Given the description of an element on the screen output the (x, y) to click on. 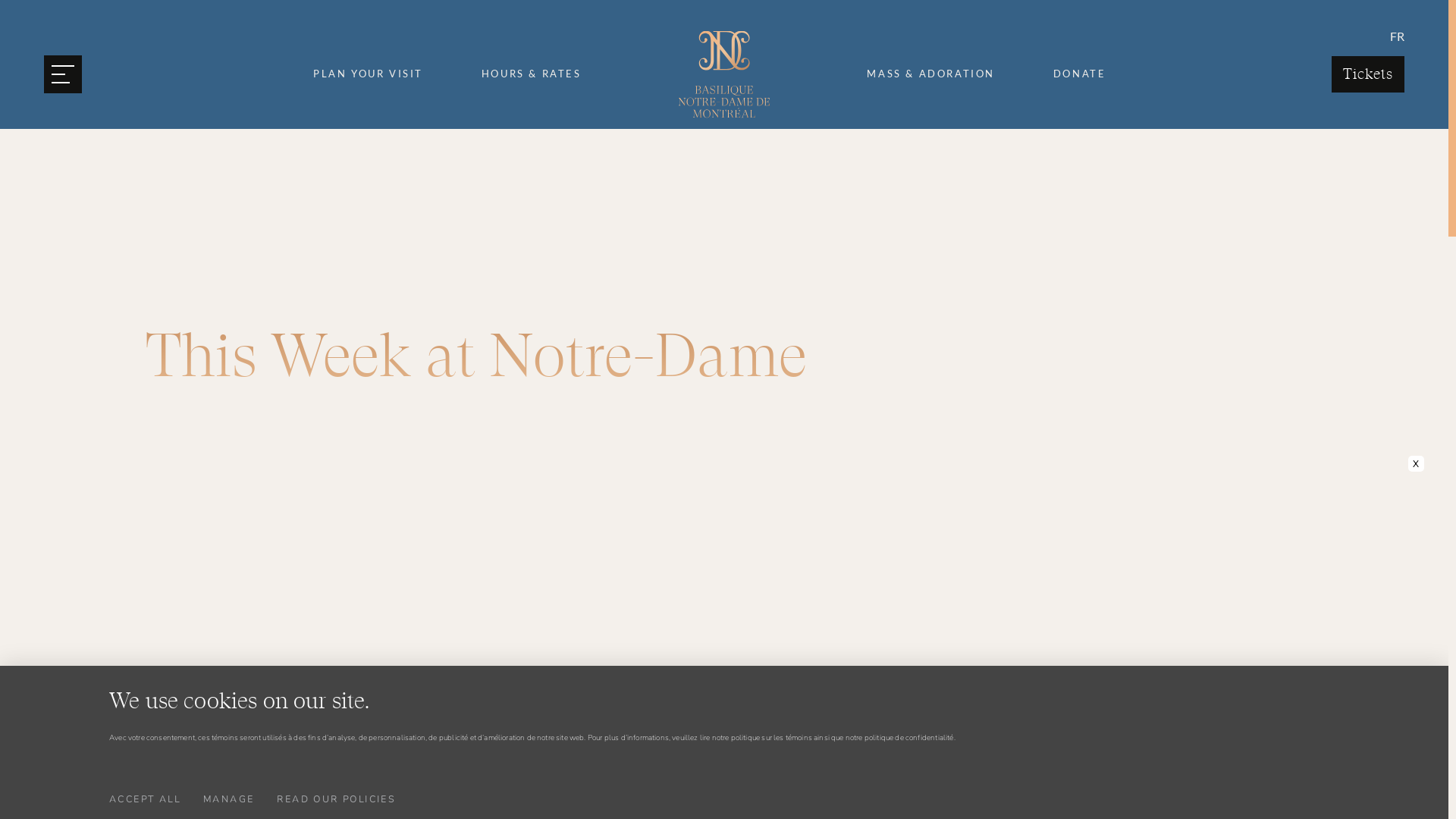
SITEMAP Element type: text (124, 785)
MASS & ADORATION Element type: text (930, 73)
MANAGE Element type: text (228, 798)
X Element type: text (1416, 463)
LEGAL NOTICE Element type: text (196, 785)
READ OUR POLICIES Element type: text (335, 798)
Instagram Element type: hover (1227, 538)
DONATE Element type: text (1078, 73)
HOURS & RATES Element type: text (530, 73)
THE FABRIQUE Element type: text (879, 609)
Twitter Element type: hover (1179, 538)
CAREERS Element type: text (879, 575)
LinkedIn Element type: hover (1273, 538)
Tickets Element type: text (1367, 74)
Facebook Element type: hover (1135, 538)
514-842-2925 Element type: text (568, 655)
PRESS ROOM Element type: text (879, 641)
CONTACT Element type: text (879, 543)
POWERED BY Element type: text (1254, 785)
PLAN YOUR VISIT Element type: text (368, 73)
Tripadvisor Element type: hover (1321, 538)
FR Element type: text (1397, 36)
ACCEPT ALL Element type: text (144, 798)
